Given the description of an element on the screen output the (x, y) to click on. 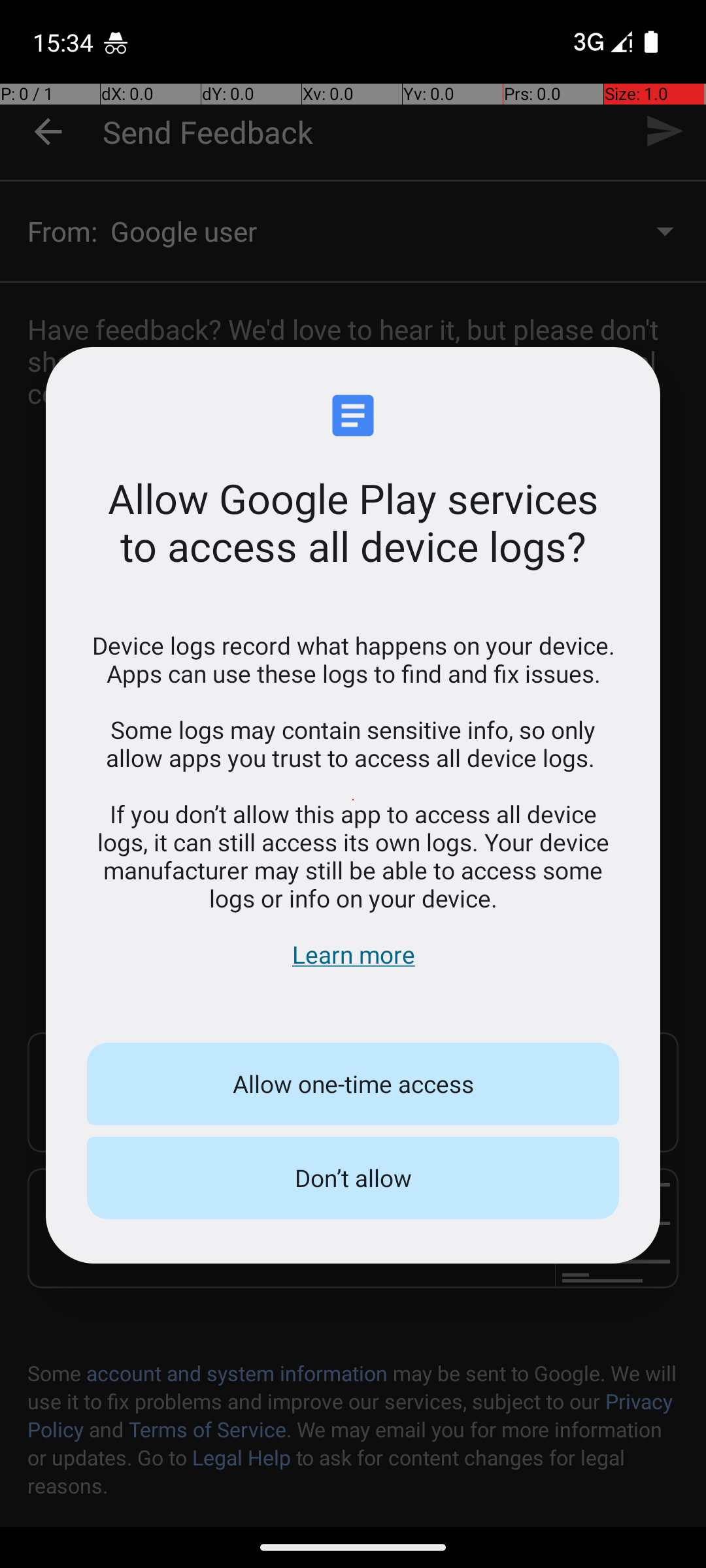
Allow Google Play services to access all device logs? Element type: android.widget.TextView (352, 521)
Device logs record what happens on your device. Apps can use these logs to find and fix issues.

Some logs may contain sensitive info, so only allow apps you trust to access all device logs. 

If you don’t allow this app to access all device logs, it can still access its own logs. Your device manufacturer may still be able to access some logs or info on your device.

Learn more Element type: android.widget.TextView (352, 799)
Allow one-time access Element type: android.widget.Button (352, 1083)
